Given the description of an element on the screen output the (x, y) to click on. 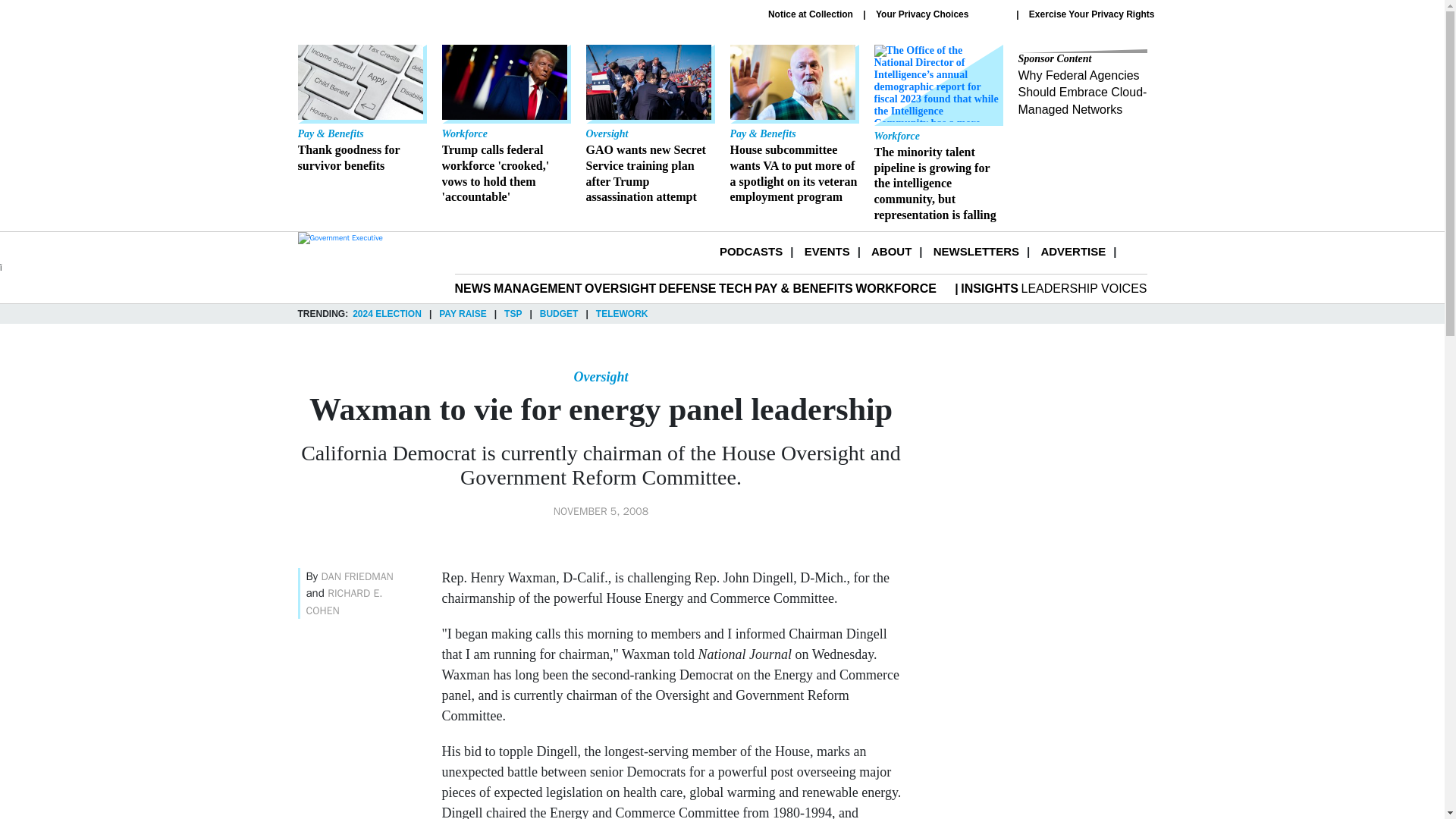
Notice at Collection (810, 14)
Your Privacy Choices (941, 14)
Exercise Your Privacy Rights (1091, 14)
ADVERTISE (1073, 250)
PODCASTS (751, 250)
ABOUT (890, 250)
NEWSLETTERS (976, 250)
EVENTS (827, 250)
